Given the description of an element on the screen output the (x, y) to click on. 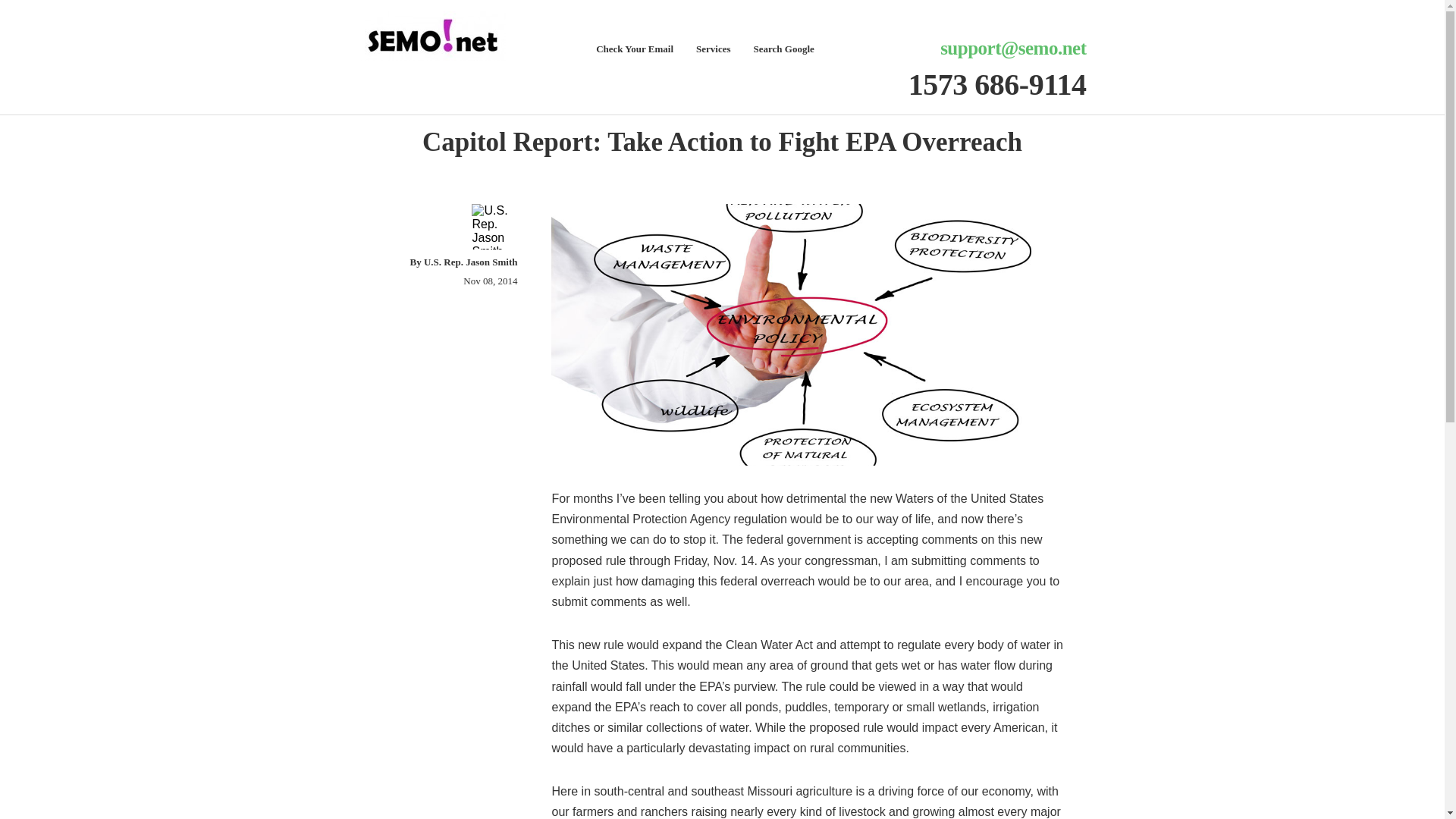
U.S. Rep. Jason Smith (470, 261)
Search Google (783, 50)
Check Your Email (633, 50)
Services (712, 50)
